Given the description of an element on the screen output the (x, y) to click on. 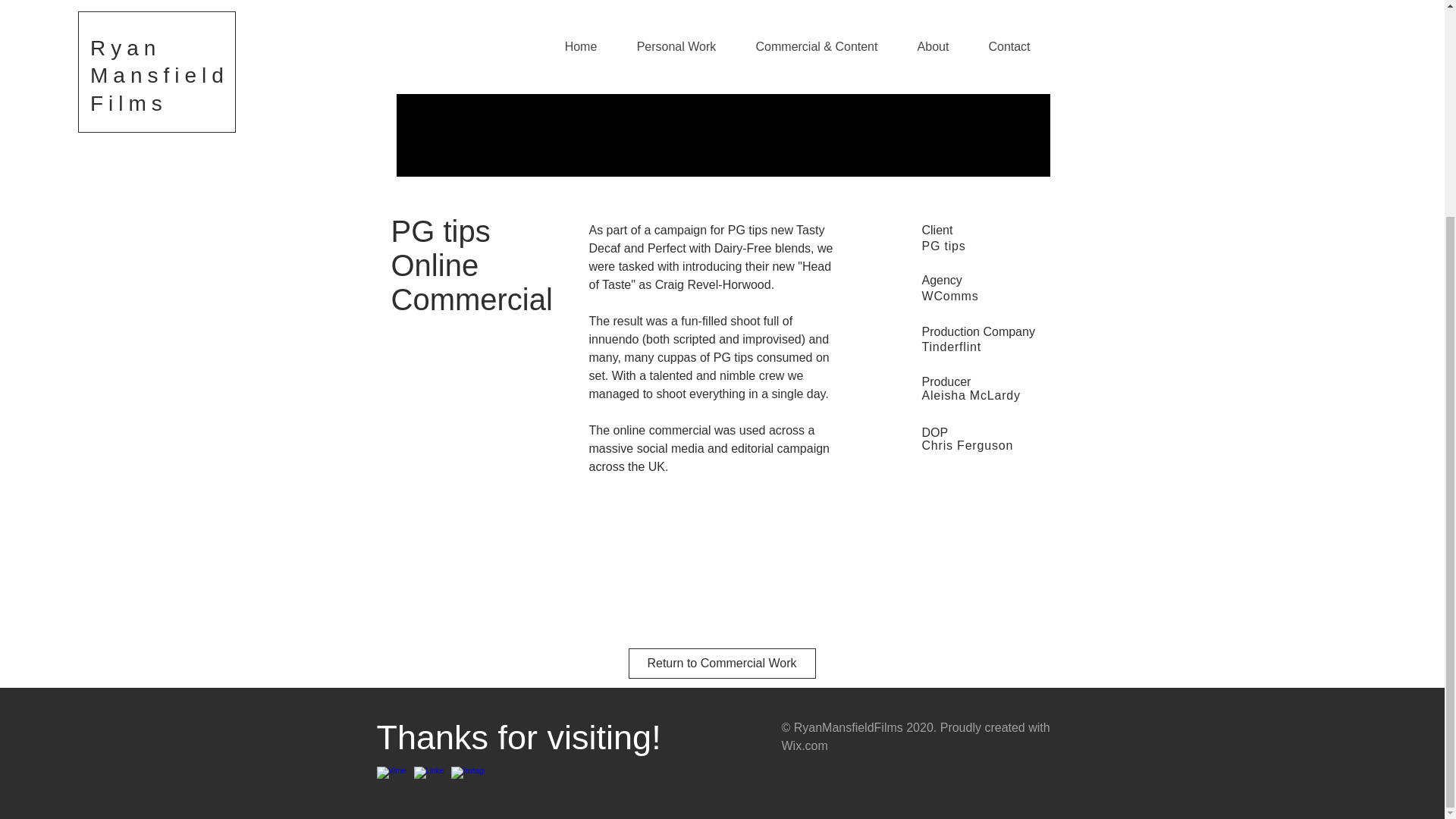
Wix.com (803, 745)
Return to Commercial Work (721, 663)
